Given the description of an element on the screen output the (x, y) to click on. 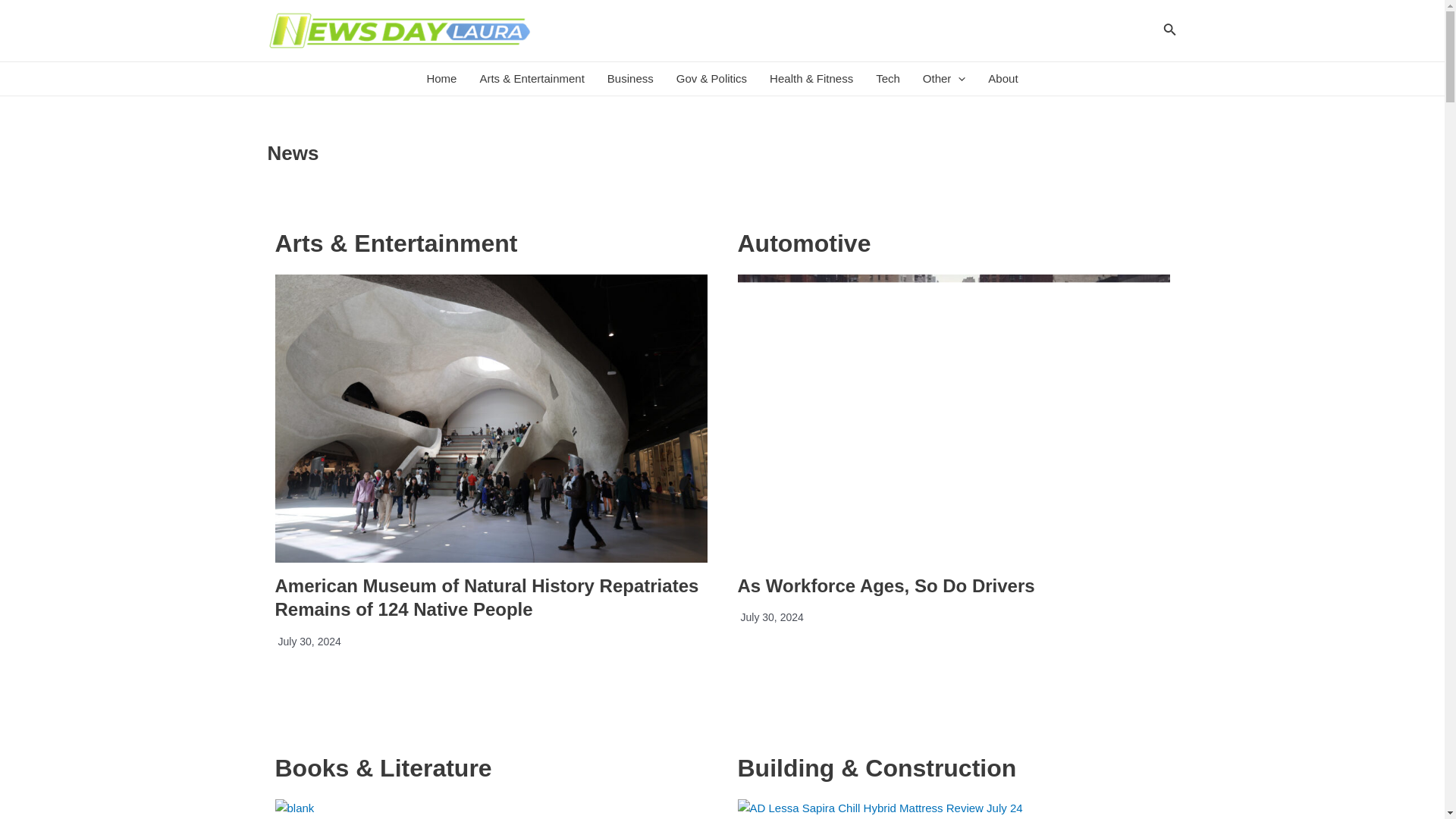
Other (943, 78)
About (1002, 78)
Business (630, 78)
Tech (887, 78)
Home (440, 78)
